Given the description of an element on the screen output the (x, y) to click on. 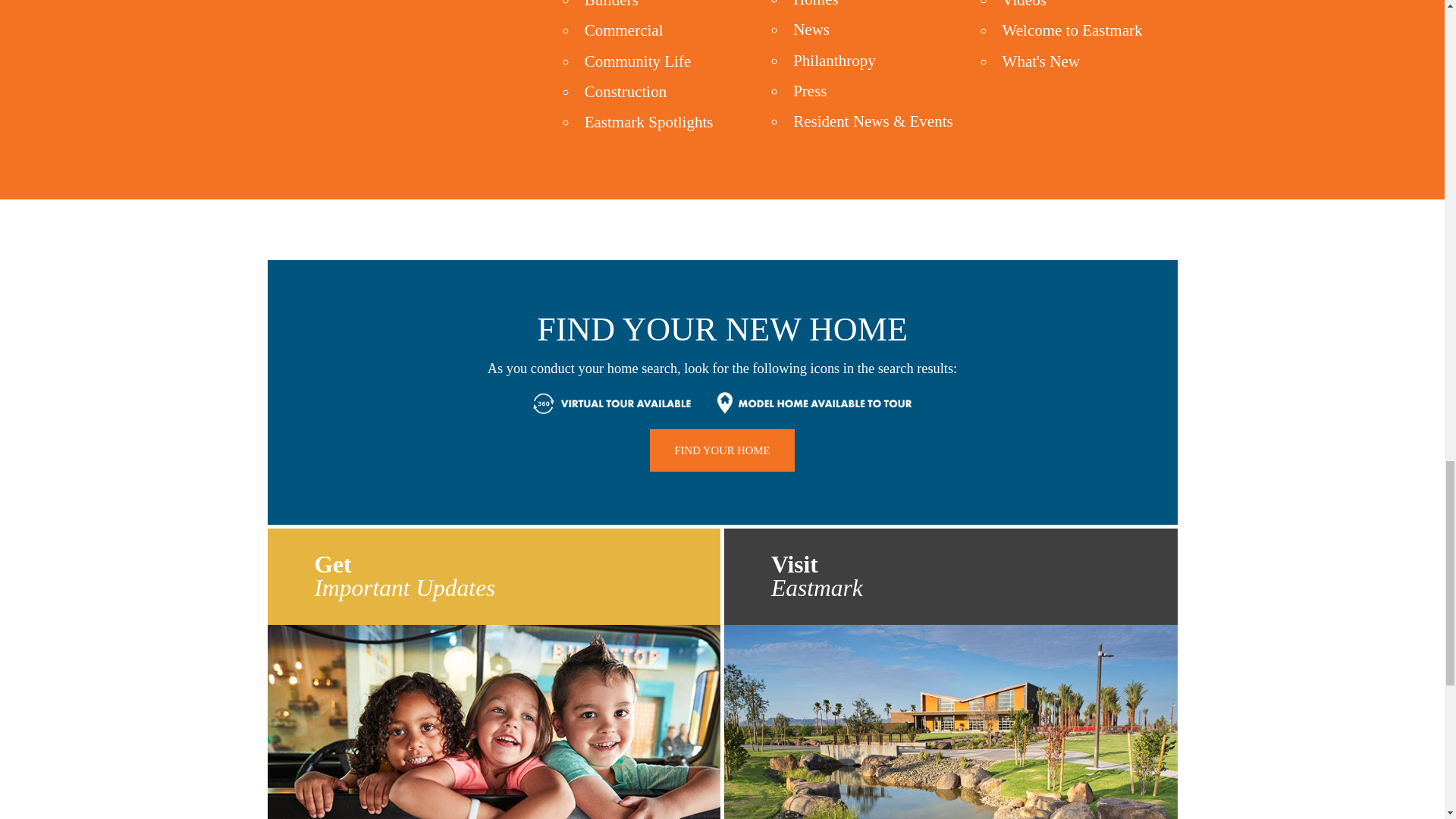
Builders (612, 4)
News (811, 29)
Philanthropy (834, 60)
Homes (815, 4)
Construction (625, 91)
Eastmark Spotlights (649, 122)
Commercial (624, 30)
Press (810, 90)
Community Life (638, 61)
